Given the description of an element on the screen output the (x, y) to click on. 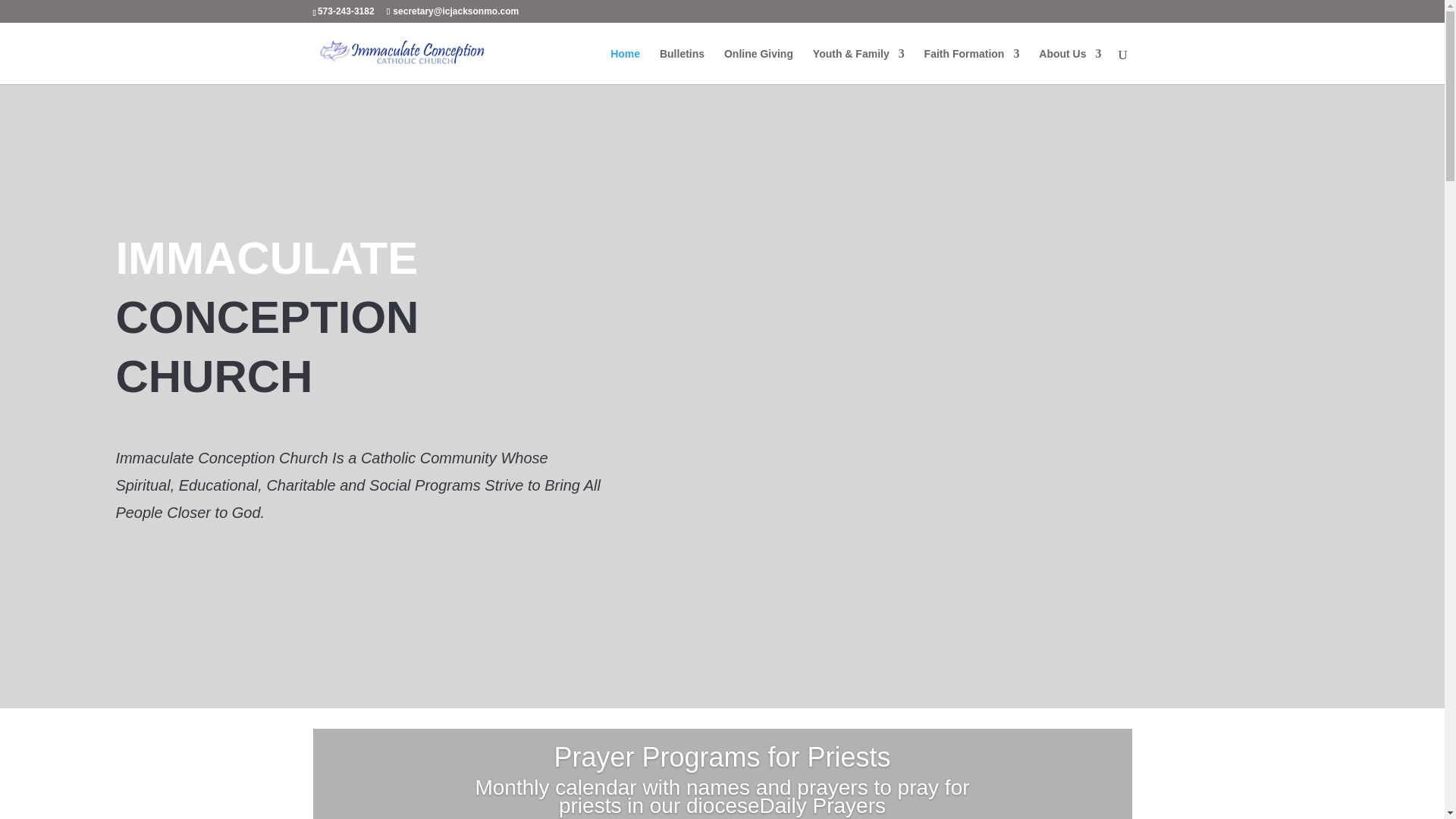
Home (625, 66)
Bulletins (681, 66)
About Us (1069, 66)
Faith Formation (972, 66)
Online Giving (758, 66)
